Given the description of an element on the screen output the (x, y) to click on. 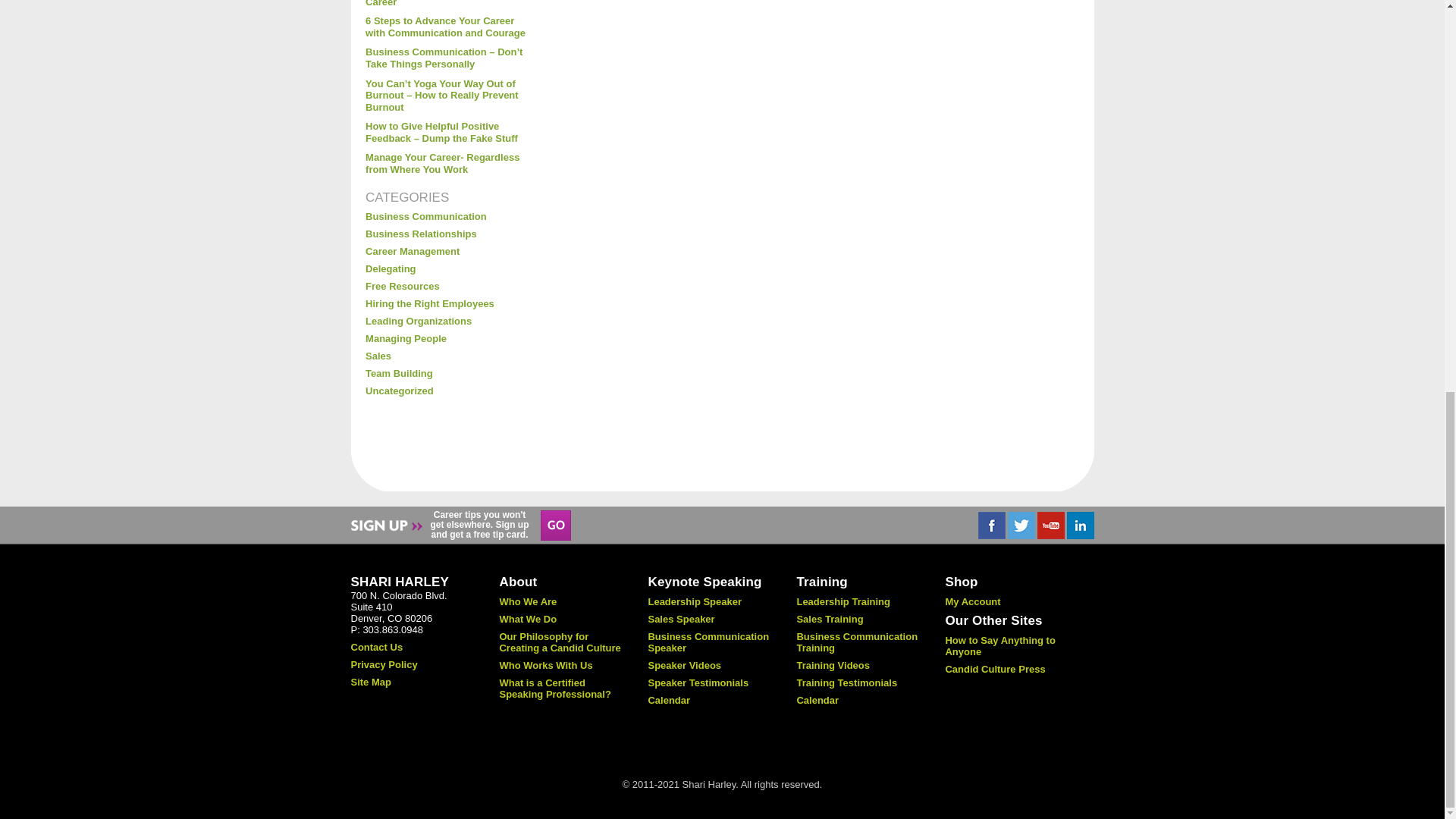
YouTube (1050, 524)
LinkedIn (1079, 524)
Facebook (992, 524)
Twitter (1020, 524)
